Given the description of an element on the screen output the (x, y) to click on. 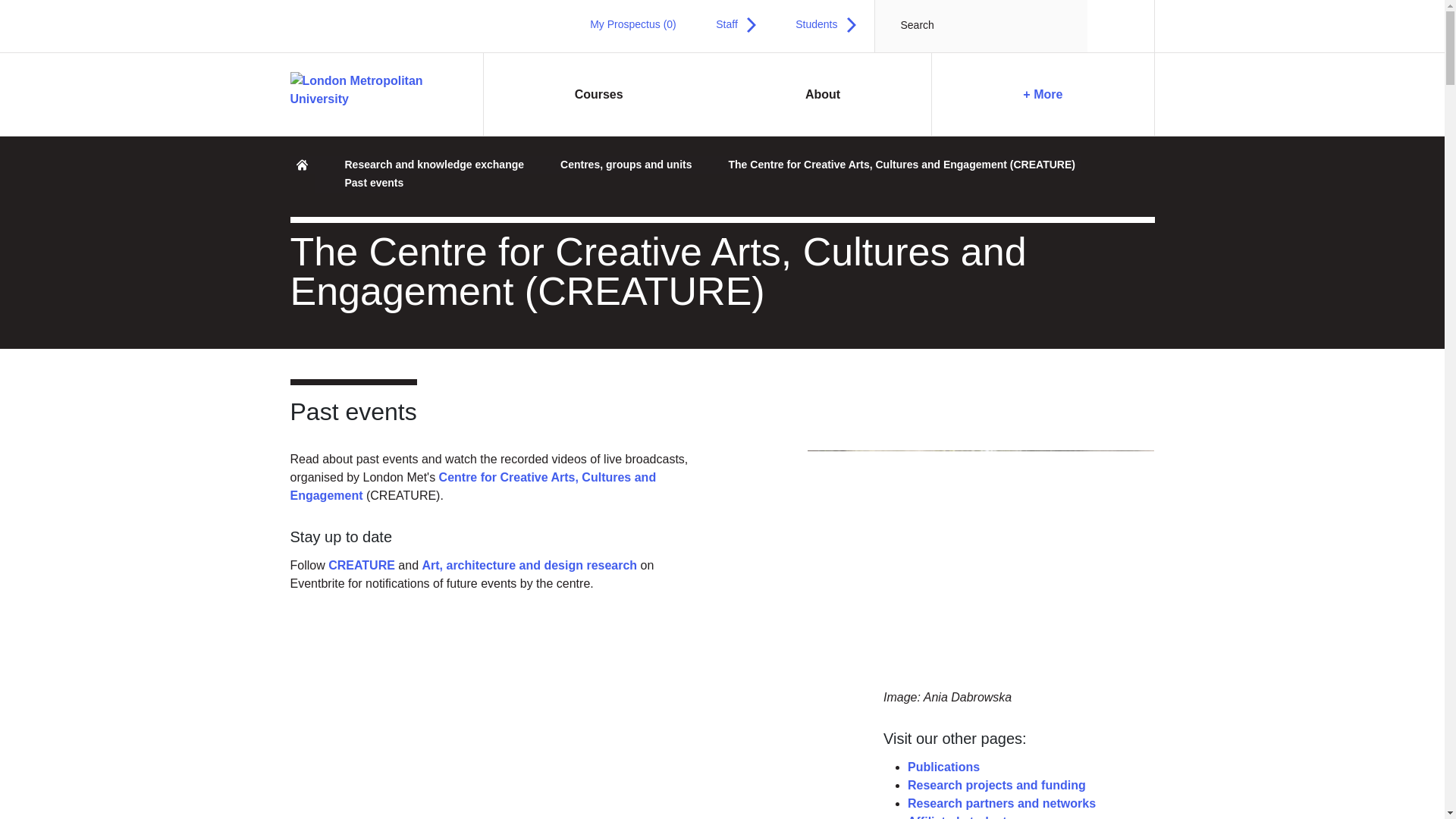
Courses (598, 94)
Students (825, 24)
Staff (735, 24)
Search (1113, 26)
About (822, 94)
Search (1113, 26)
